Given the description of an element on the screen output the (x, y) to click on. 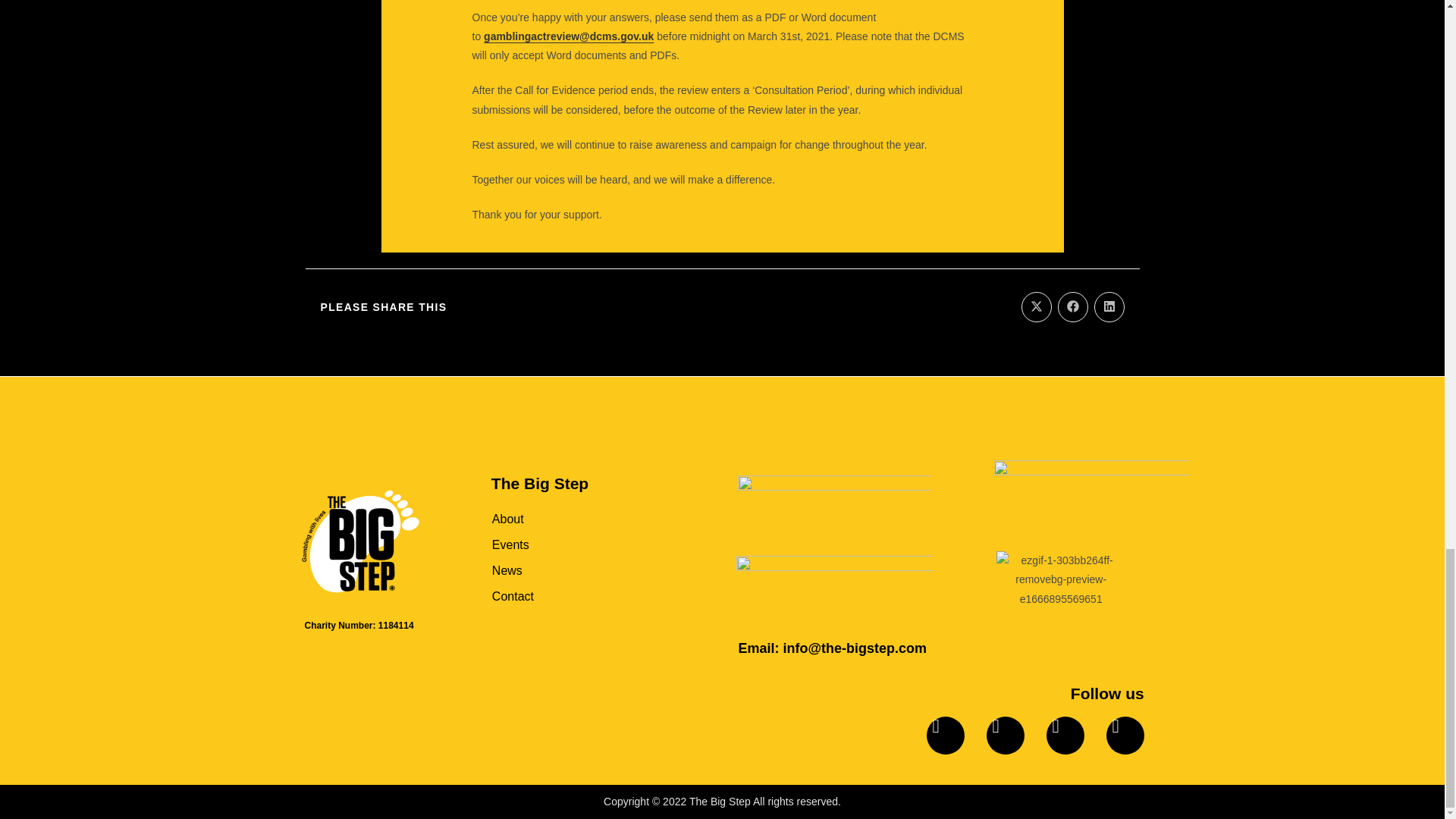
About (577, 519)
Events (577, 544)
News (577, 570)
ezgif-1-303bb264ff-removebg-preview-e1666895569651 (1060, 580)
Contact (577, 596)
